Given the description of an element on the screen output the (x, y) to click on. 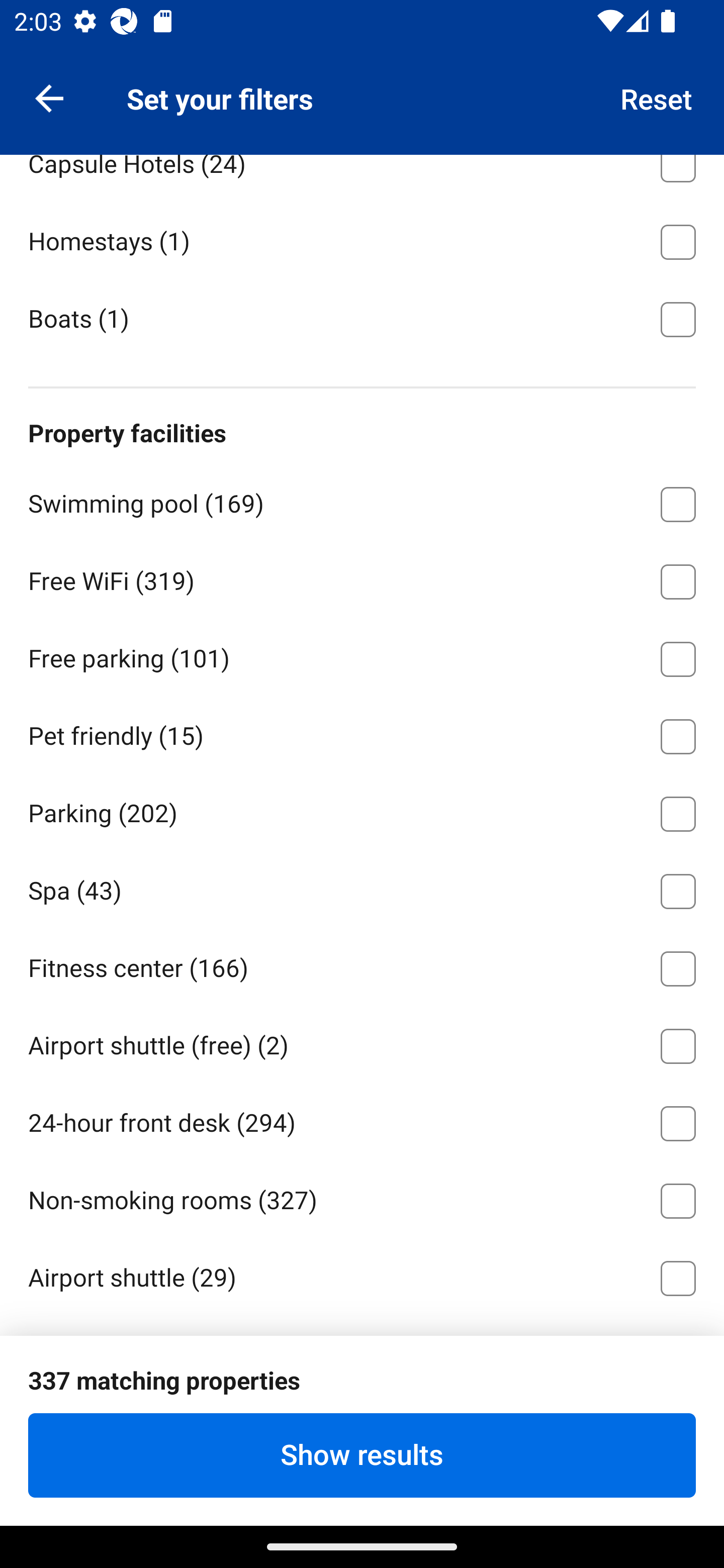
Guesthouses ⁦(1) (361, 83)
Navigate up (49, 97)
Reset (656, 97)
Capsule Hotels ⁦(24) (361, 177)
Homestays ⁦(1) (361, 238)
Boats ⁦(1) (361, 318)
Swimming pool ⁦(169) (361, 500)
Free WiFi ⁦(319) (361, 578)
Free parking ⁦(101) (361, 655)
Pet friendly ⁦(15) (361, 732)
Parking ⁦(202) (361, 810)
Spa ⁦(43) (361, 887)
Fitness center ⁦(166) (361, 964)
Airport shuttle (free) ⁦(2) (361, 1042)
24-hour front desk ⁦(294) (361, 1119)
Non-smoking rooms ⁦(327) (361, 1196)
Airport shuttle ⁦(29) (361, 1274)
Show results (361, 1454)
